Given the description of an element on the screen output the (x, y) to click on. 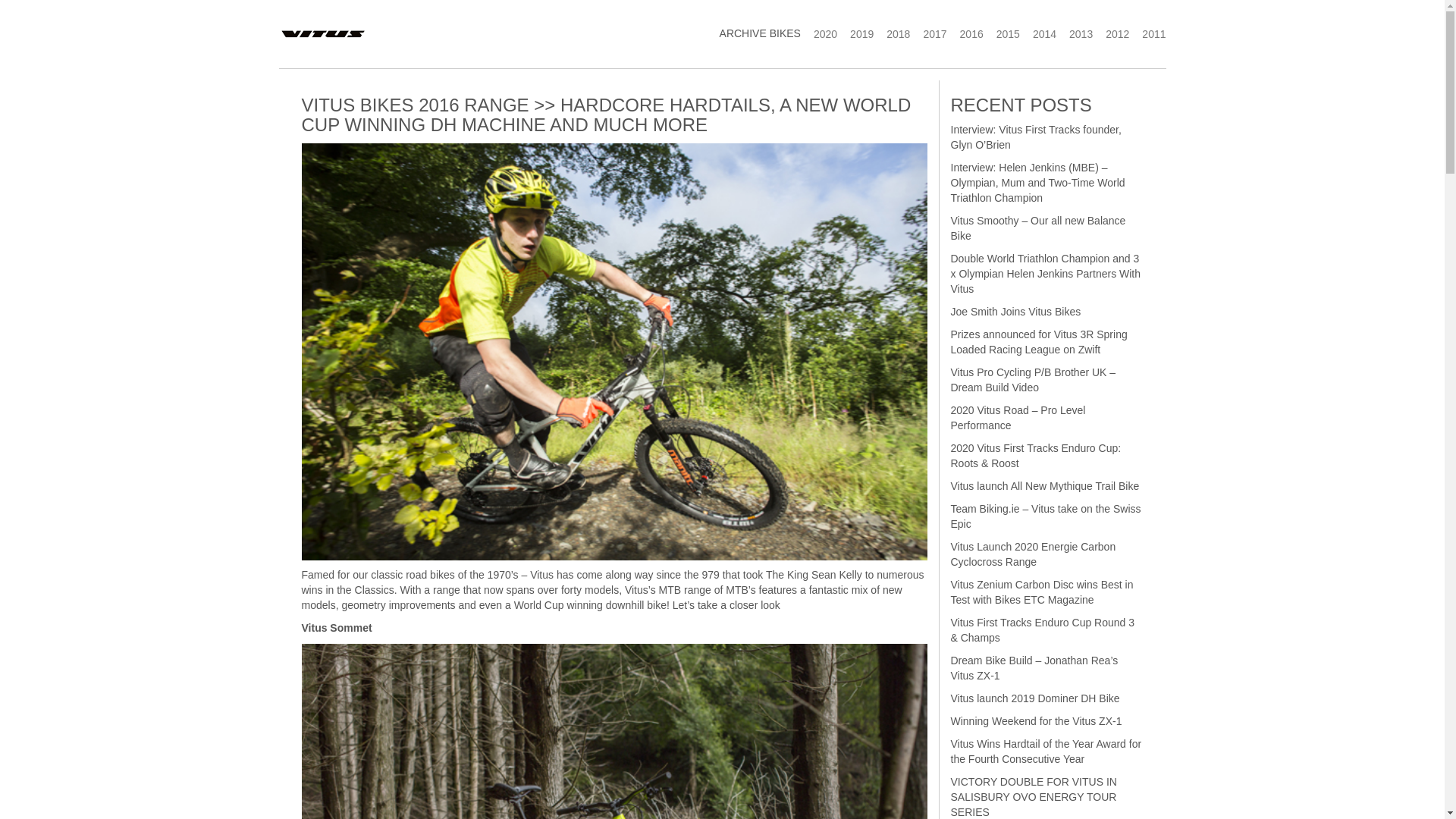
2020 (818, 33)
2018 (891, 33)
Vitus Launch 2020 Energie Carbon Cyclocross Range (1033, 554)
2013 (1075, 33)
2014 (1038, 33)
Vitus launch All New Mythique Trail Bike (1045, 485)
2019 (855, 33)
VICTORY DOUBLE FOR VITUS IN SALISBURY OVO ENERGY TOUR SERIES (1033, 796)
2015 (1002, 33)
2011 (1147, 33)
Vitus launch 2019 Dominer DH Bike (1034, 698)
2016 (965, 33)
2017 (928, 33)
